Given the description of an element on the screen output the (x, y) to click on. 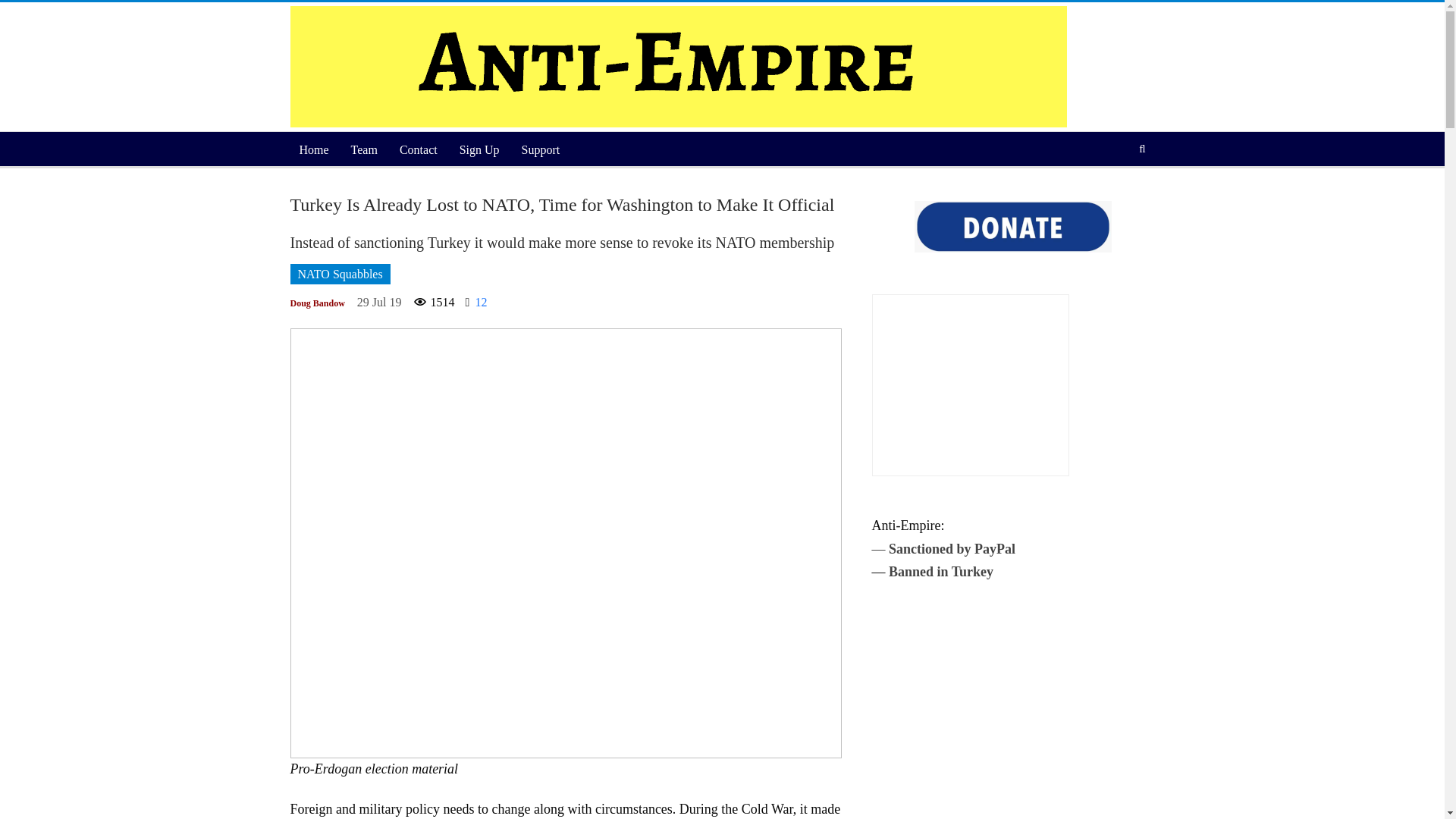
Home (313, 149)
Contact (418, 149)
Banned in Turkey (940, 571)
Team (364, 149)
Doug Bandow (316, 302)
NATO Squabbles (339, 273)
12 (476, 302)
Browse Author Articles (316, 302)
Support (540, 149)
Sign Up (478, 149)
